Given the description of an element on the screen output the (x, y) to click on. 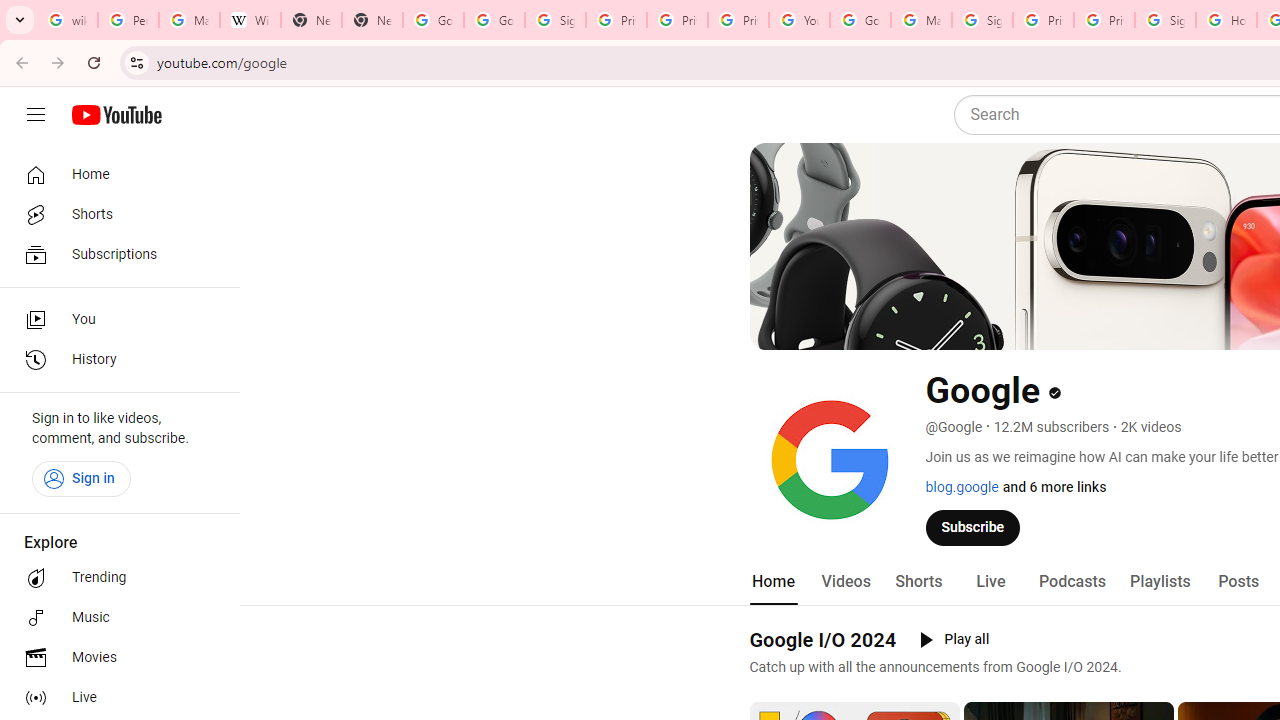
Podcasts (1072, 581)
Videos (845, 581)
Live (990, 581)
Sign in - Google Accounts (1165, 20)
